Given the description of an element on the screen output the (x, y) to click on. 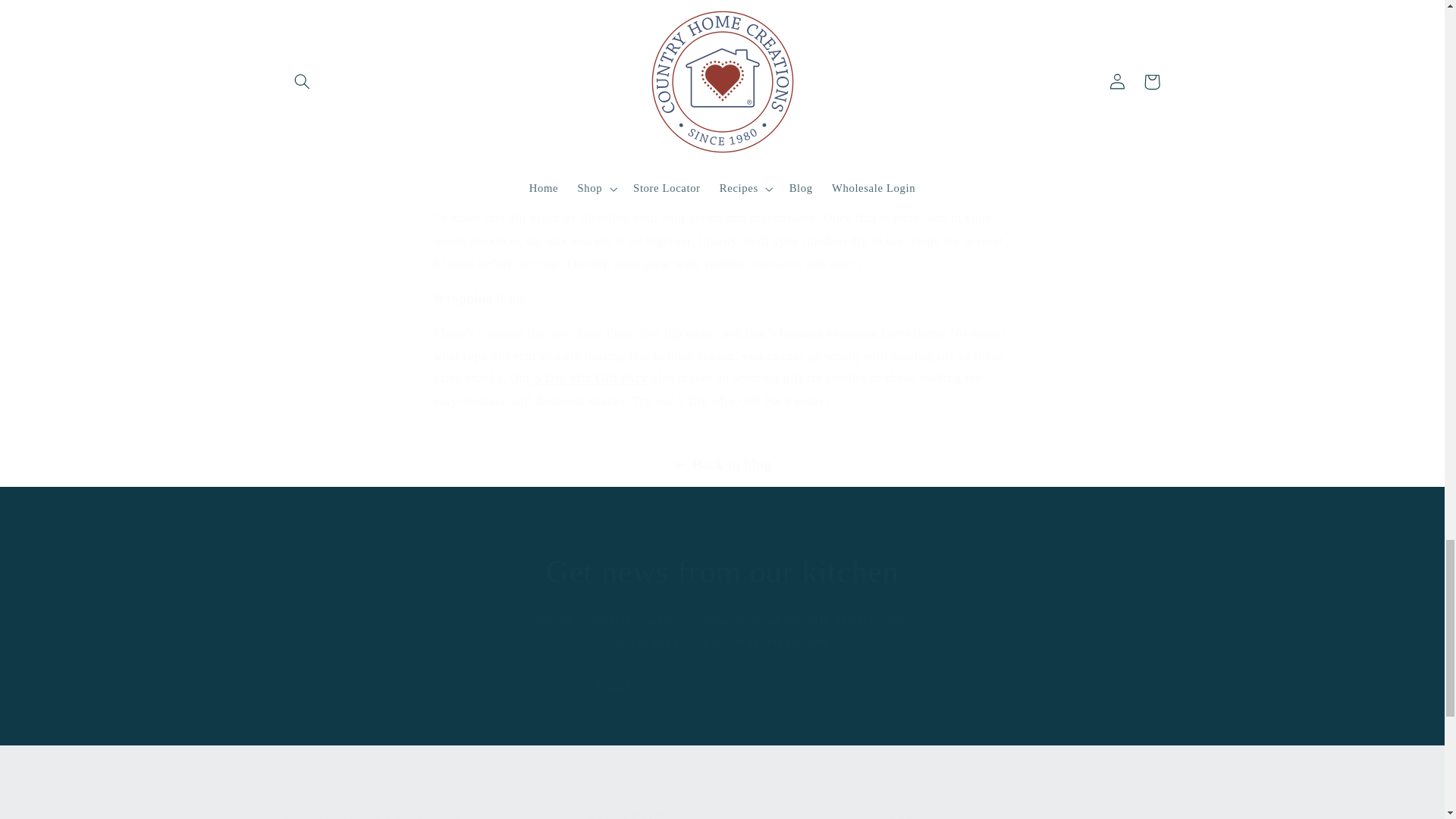
Email (722, 687)
Get news from our kitchen (722, 571)
